Given the description of an element on the screen output the (x, y) to click on. 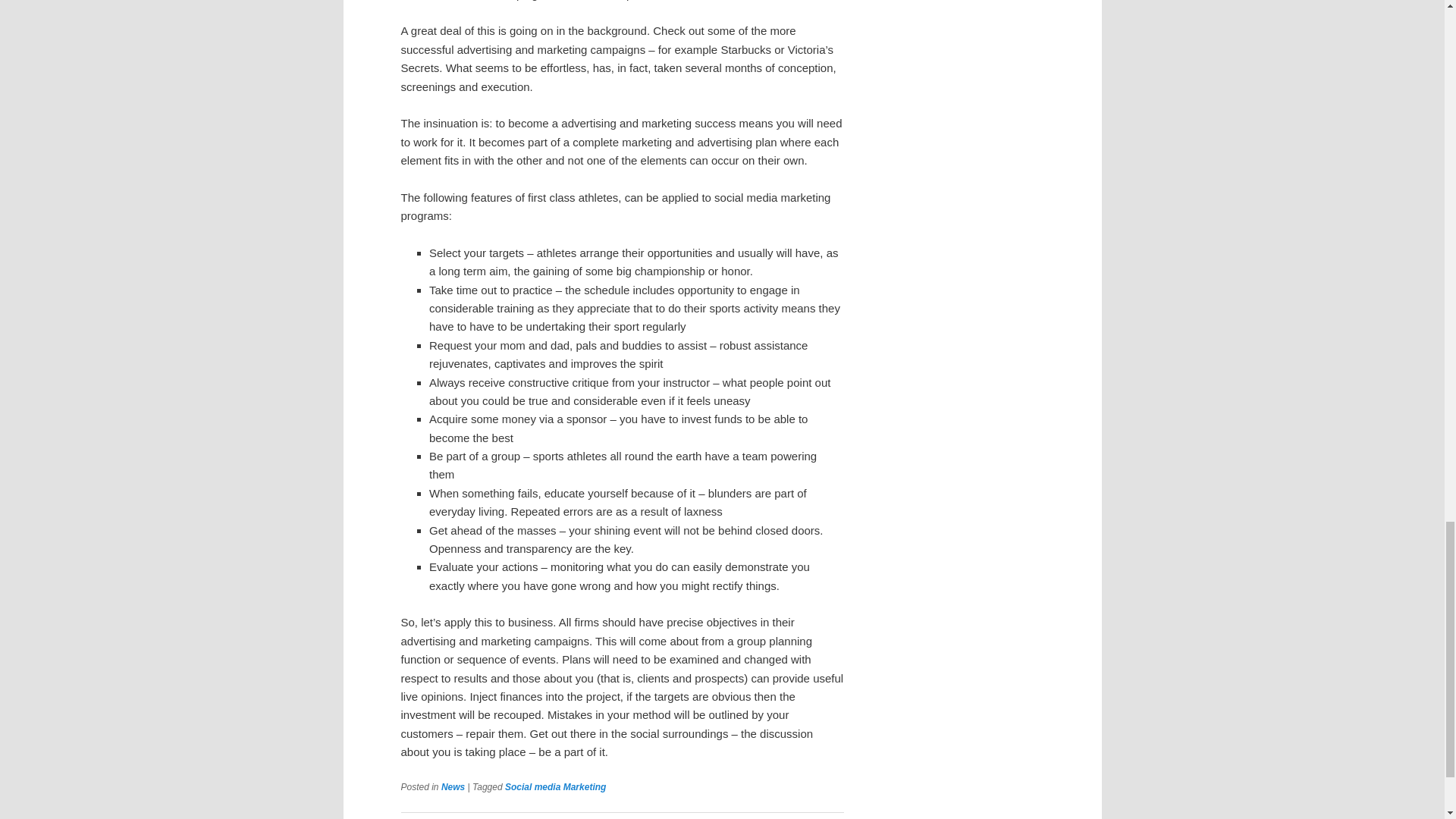
News (452, 787)
Social media Marketing (555, 787)
